Given the description of an element on the screen output the (x, y) to click on. 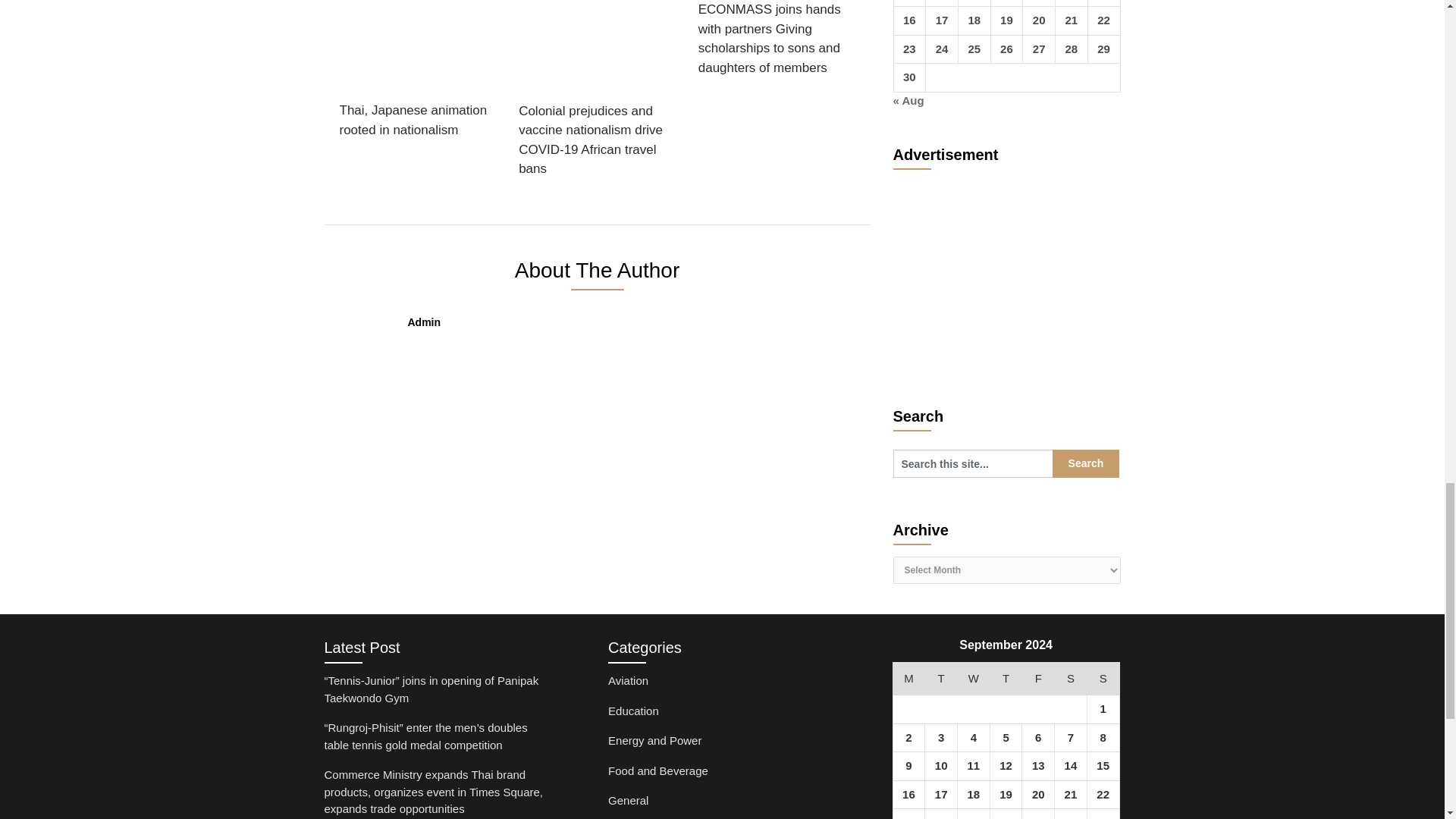
Search (1085, 463)
Search this site... (972, 463)
Thai, Japanese animation rooted in nationalism (415, 73)
Thai, Japanese animation rooted in nationalism (415, 73)
Education (633, 710)
Aviation (627, 680)
Search (1085, 463)
